Given the description of an element on the screen output the (x, y) to click on. 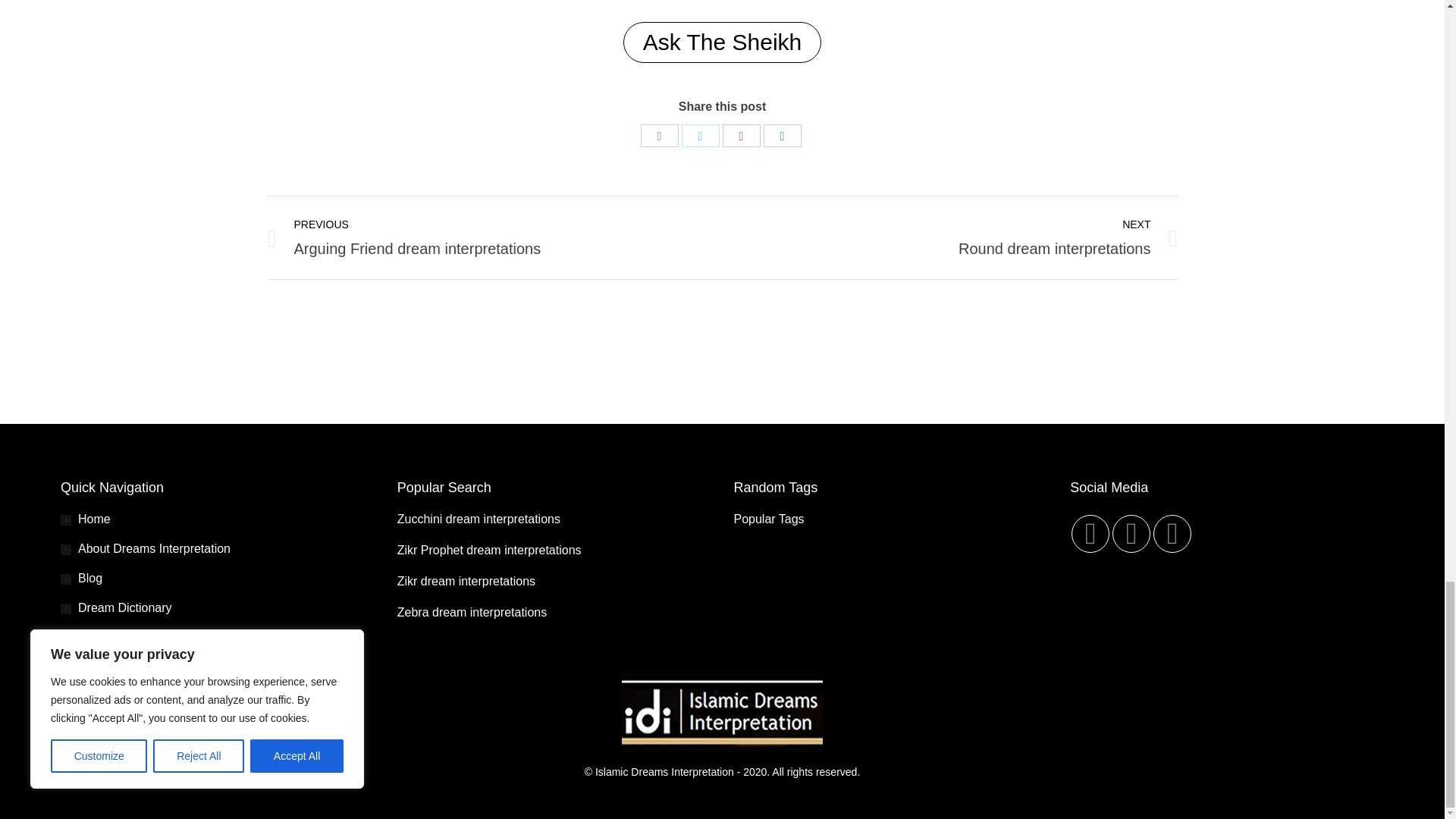
Pinterest (741, 135)
Share on Pinterest (741, 135)
Share on Facebook (659, 135)
Share on LinkedIn (781, 135)
LinkedIn (781, 135)
Facebook (659, 135)
Instagram page opens in new window (1172, 533)
Twitter (700, 135)
Ask The Sheikh (722, 42)
Facebook page opens in new window (482, 237)
Share on Twitter (1090, 533)
Pinterest page opens in new window (700, 135)
